Given the description of an element on the screen output the (x, y) to click on. 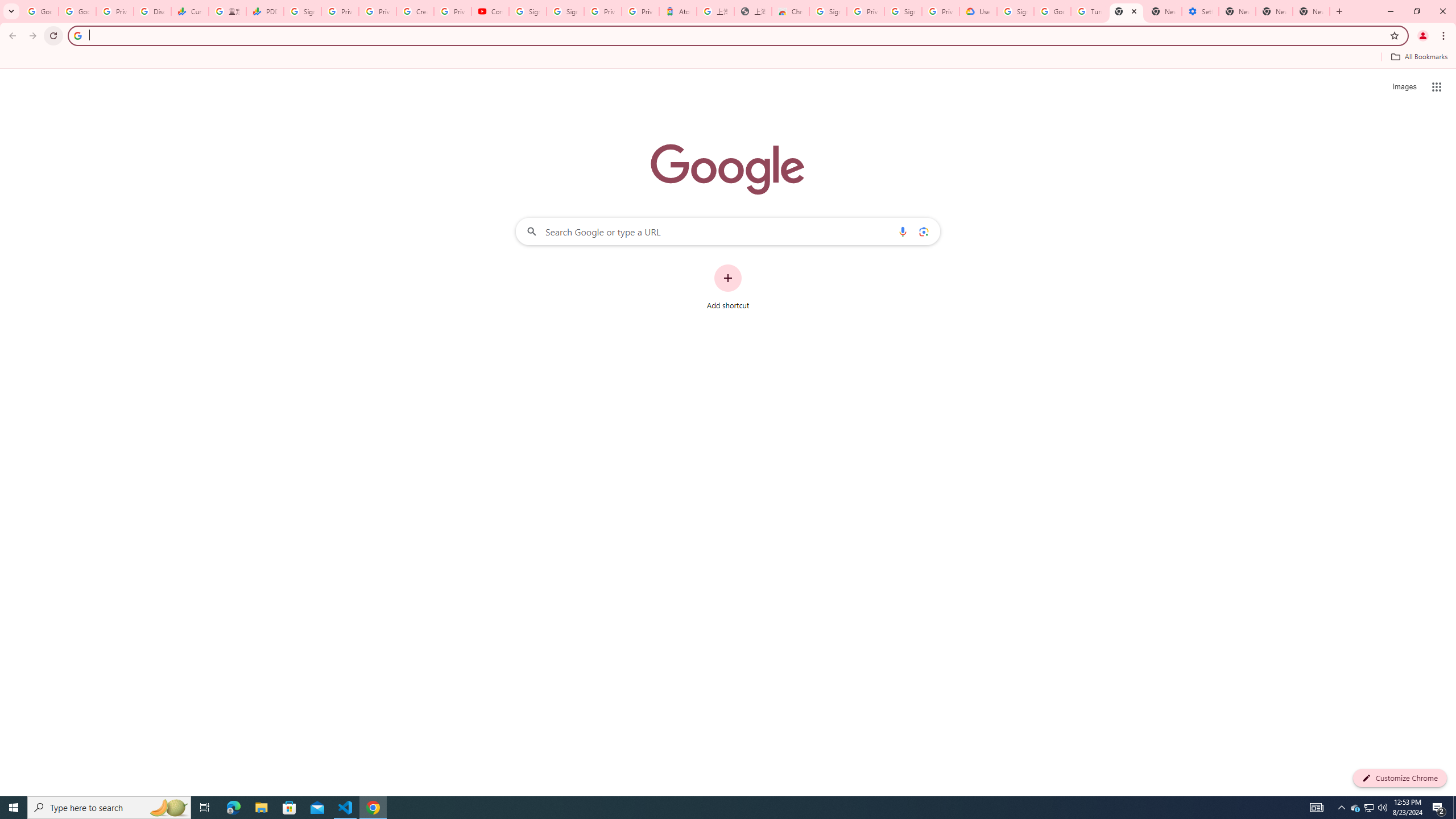
Search by image (922, 230)
Sign in - Google Accounts (302, 11)
Customize Chrome (1399, 778)
All Bookmarks (1418, 56)
Search by voice (902, 230)
